Given the description of an element on the screen output the (x, y) to click on. 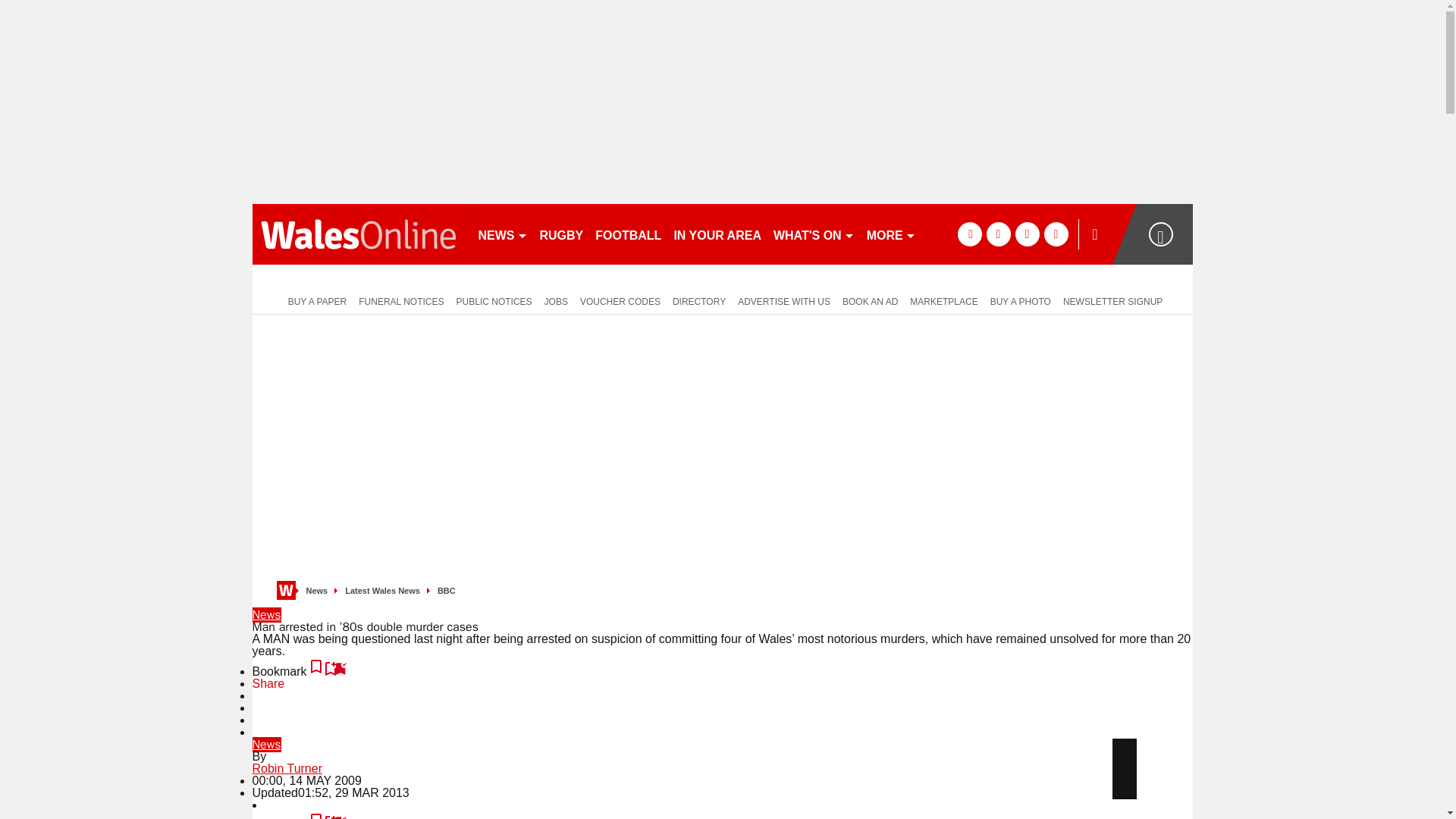
NEWS (501, 233)
RUGBY (561, 233)
FOOTBALL (627, 233)
twitter (997, 233)
IN YOUR AREA (716, 233)
walesonline (357, 233)
instagram (1055, 233)
MORE (890, 233)
facebook (968, 233)
pinterest (1026, 233)
WHAT'S ON (813, 233)
